Given the description of an element on the screen output the (x, y) to click on. 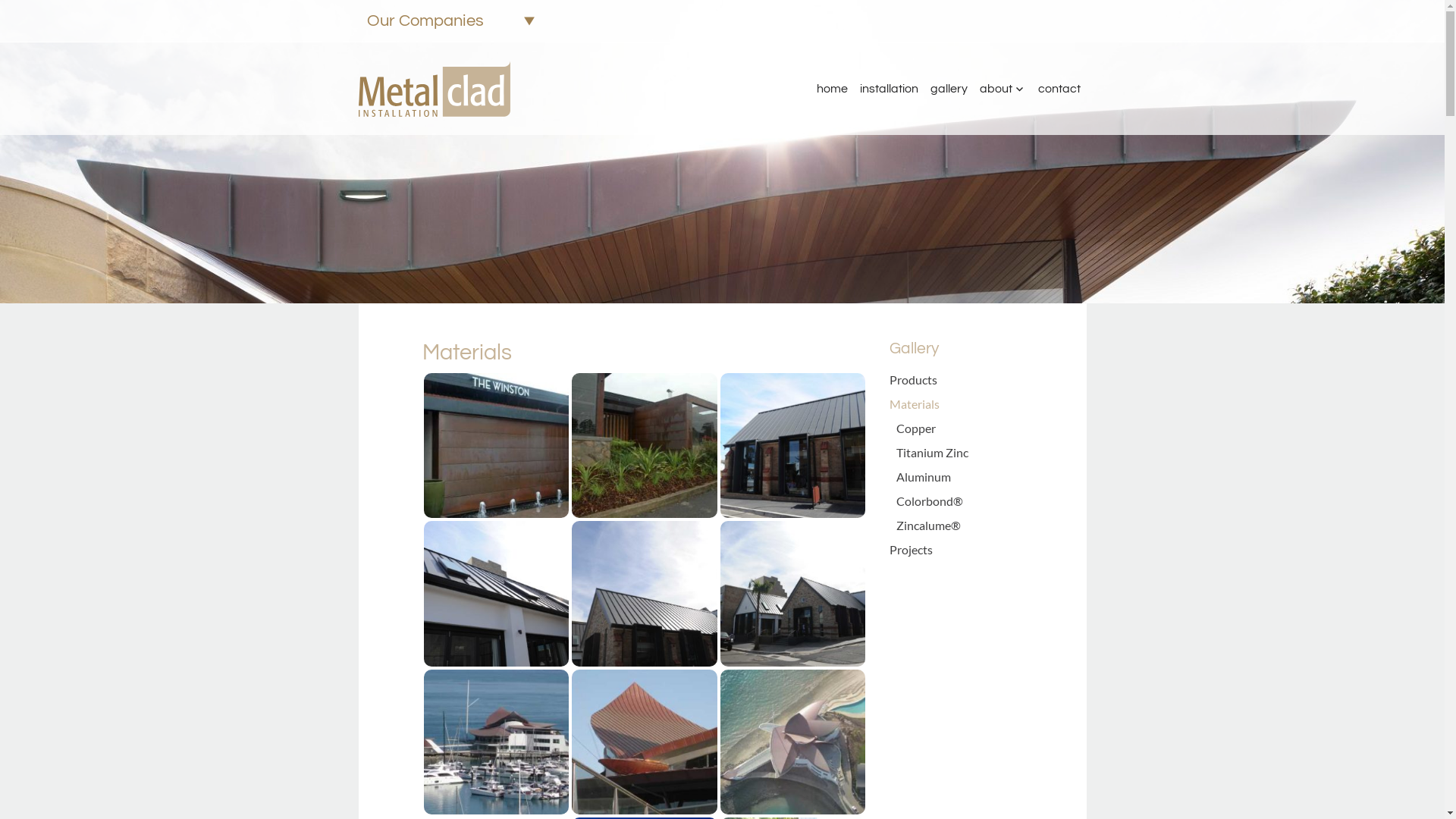
Our Companies Element type: text (449, 20)
contact Element type: text (1058, 88)
installation Element type: text (888, 88)
about Element type: text (1002, 88)
Materials Element type: text (914, 403)
Return to homepage Element type: hover (440, 88)
Titanium Zinc Element type: text (932, 452)
Projects Element type: text (910, 549)
Copper Element type: text (915, 427)
gallery Element type: text (947, 88)
Products Element type: text (913, 379)
home Element type: text (831, 88)
Aluminum Element type: text (923, 476)
